Given the description of an element on the screen output the (x, y) to click on. 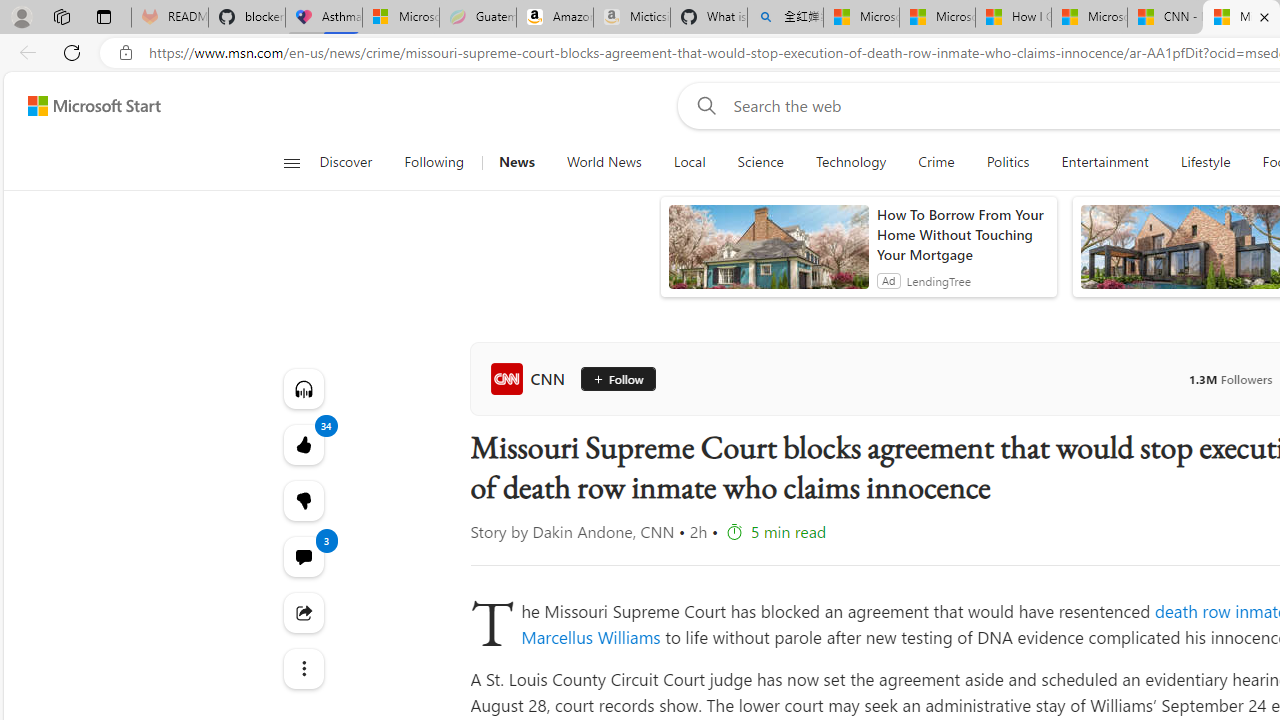
Listen to this article (302, 388)
34 Like (302, 444)
Class: at-item (302, 668)
